Given the description of an element on the screen output the (x, y) to click on. 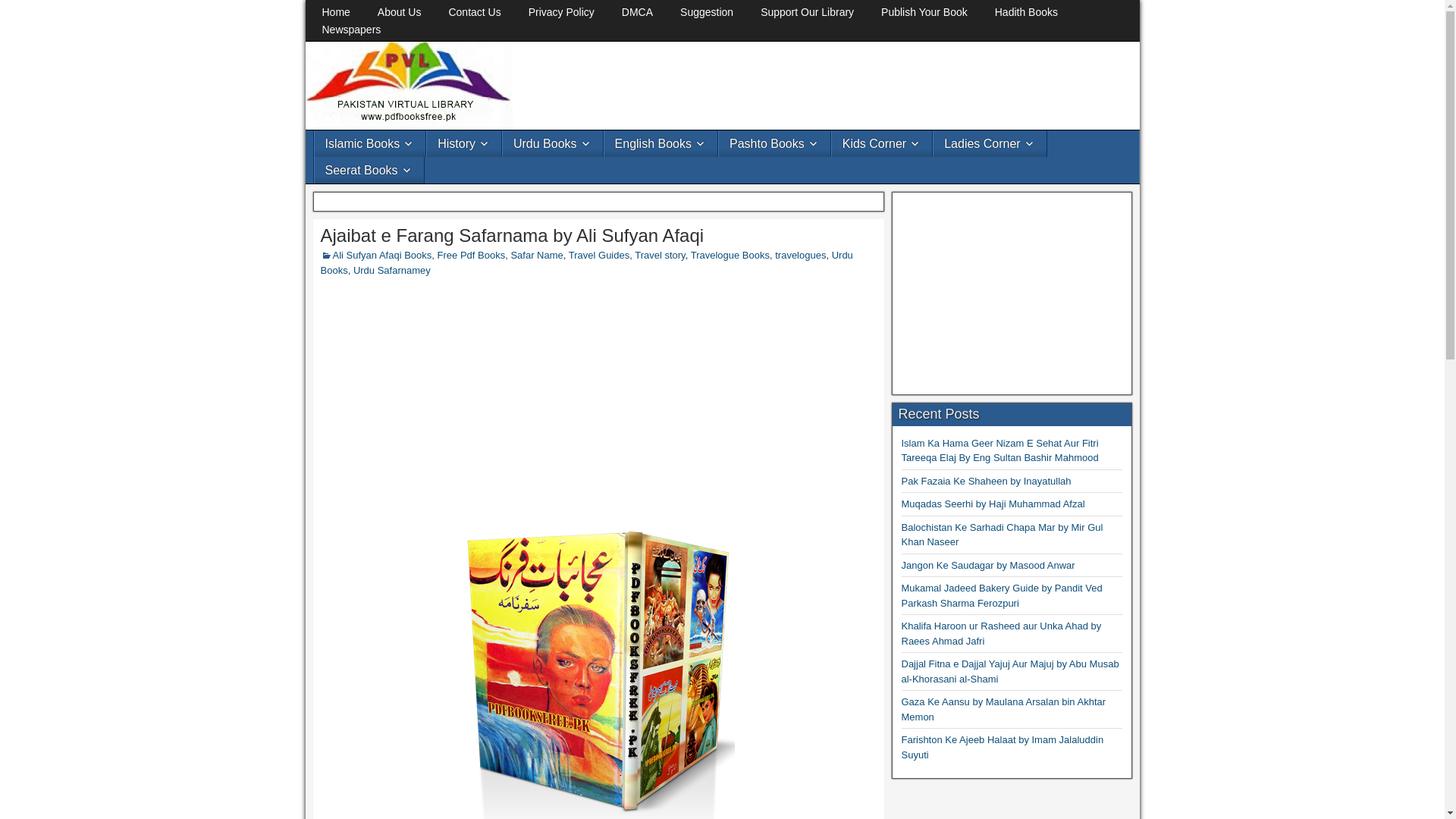
DMCA (637, 12)
Privacy Policy (561, 12)
Hadith Books (1026, 12)
Support Our Library (806, 12)
Newspapers (350, 29)
About Us (399, 12)
Publish Your Book (924, 12)
Advertisement (794, 81)
Islamic Books (369, 143)
Advertisement (1011, 293)
